Given the description of an element on the screen output the (x, y) to click on. 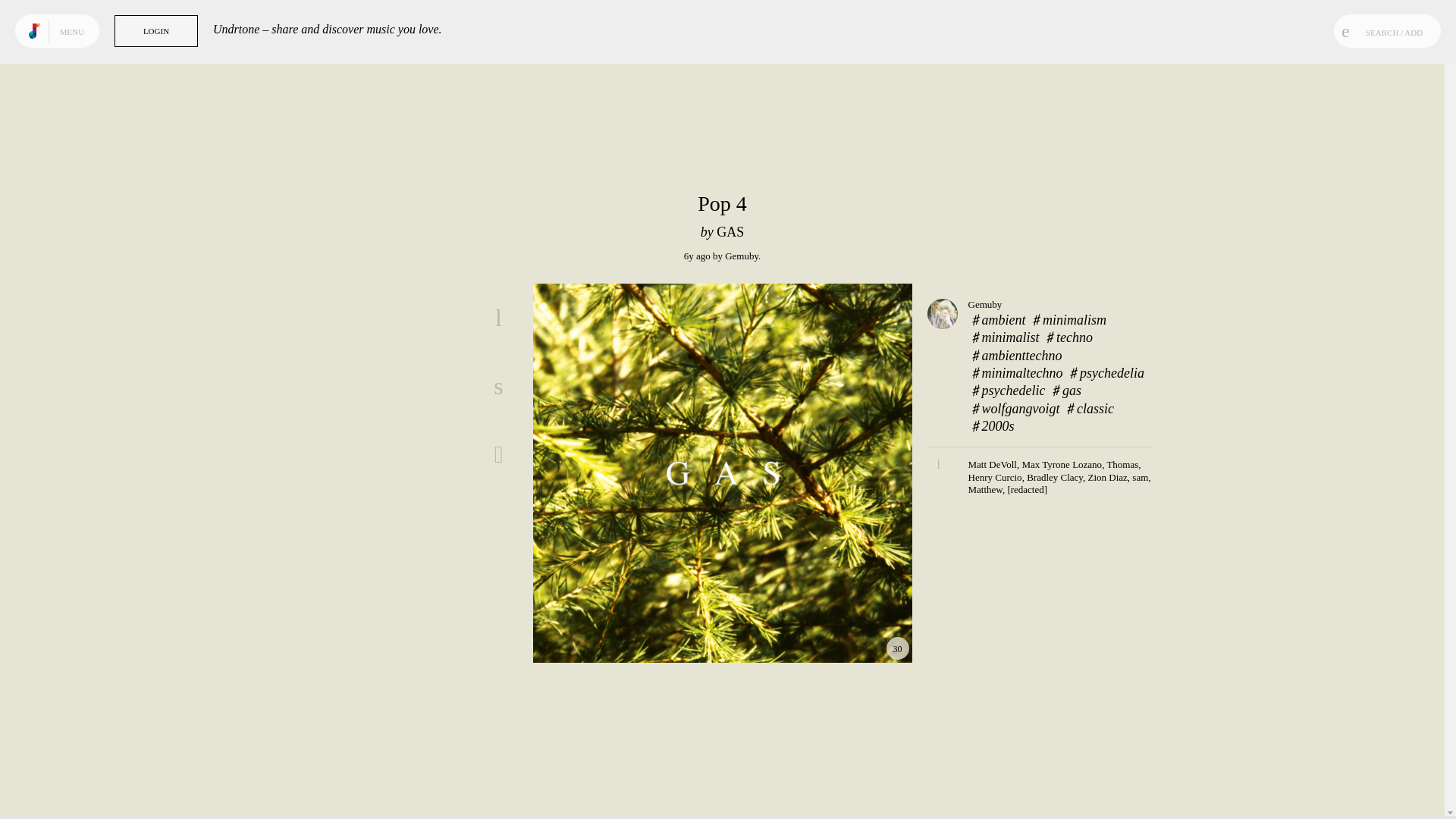
Tracks (68, 40)
Share (498, 386)
FAQs (55, 797)
georgianapheby (741, 255)
LOGIN (156, 30)
Press (41, 785)
Trending People (68, 96)
Trending Tags (68, 68)
Press (41, 785)
Repost (498, 454)
